Given the description of an element on the screen output the (x, y) to click on. 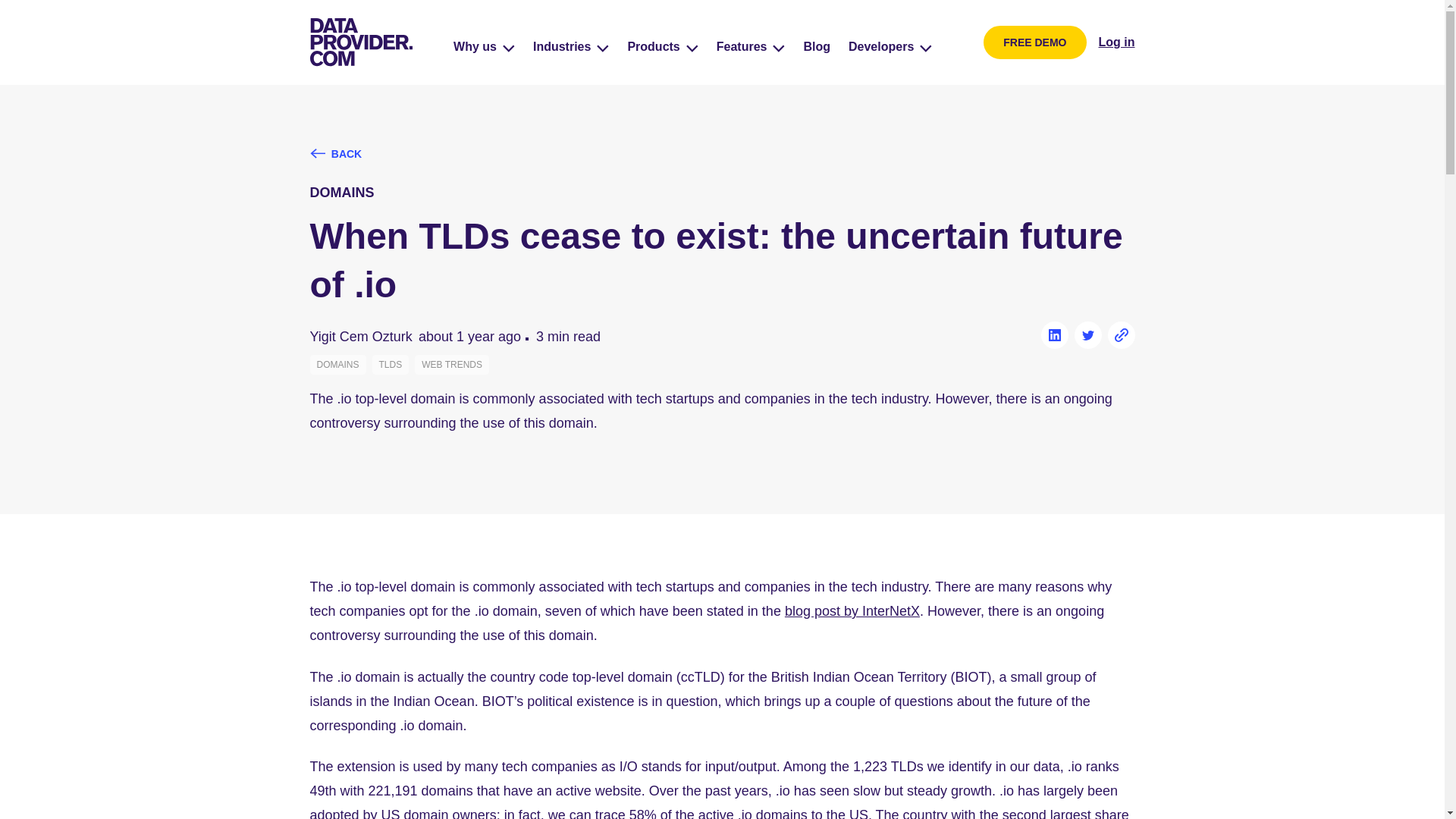
Back to homepage (360, 42)
Yigit Cem Ozturk (360, 336)
Free demo (1035, 41)
TLDs (390, 364)
Log in (1117, 42)
Blog (816, 46)
Log in (1117, 42)
Web trends (451, 364)
domains (336, 364)
FREE DEMO (1035, 41)
